Given the description of an element on the screen output the (x, y) to click on. 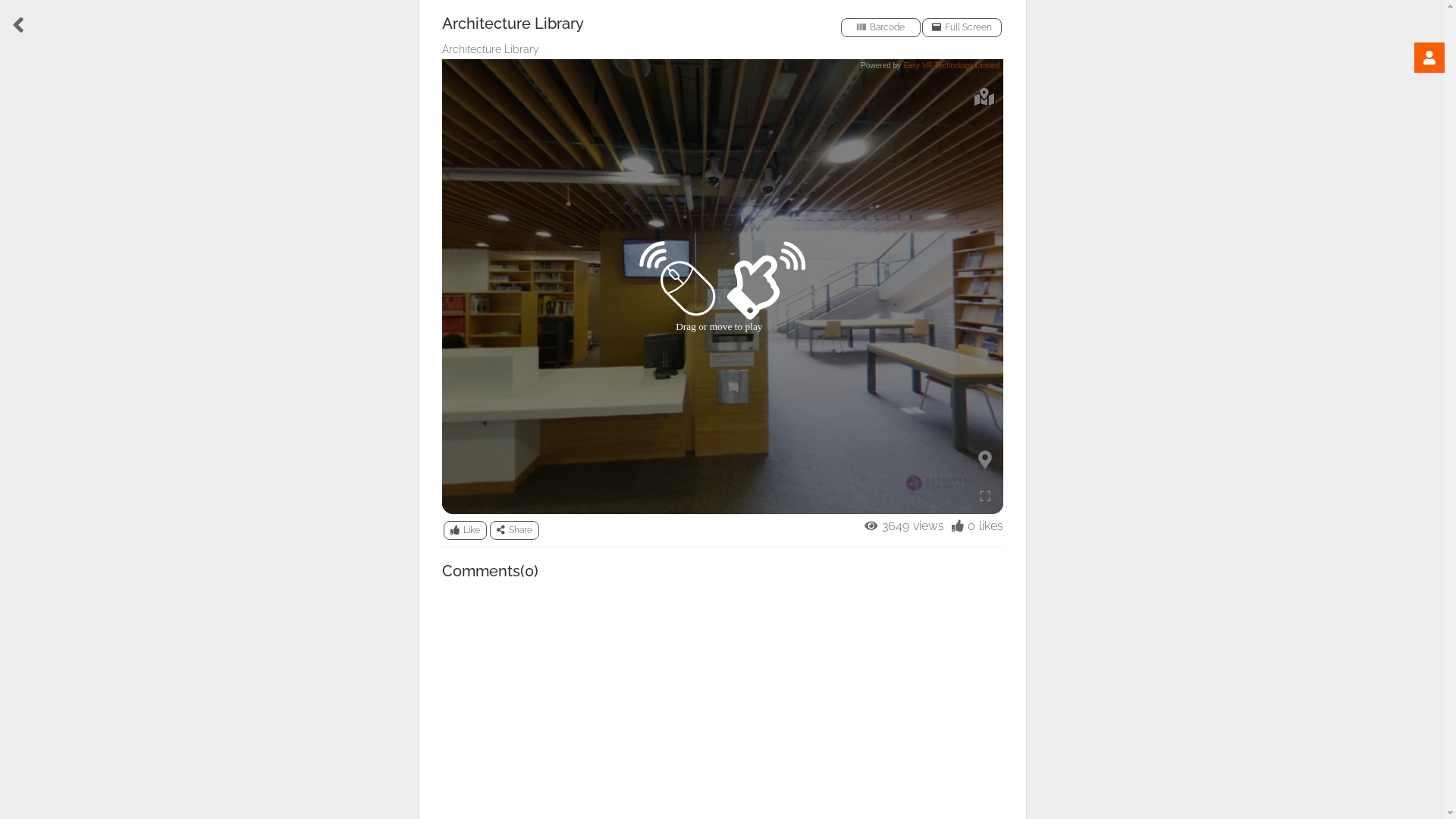
SHOW Element type: text (35, 719)
Share Element type: text (514, 529)
BUSINESS Element type: text (35, 651)
Full Screen Element type: text (961, 27)
FUN Element type: text (35, 584)
TRAVEL Element type: text (35, 449)
SHOPPING Element type: text (35, 178)
HEALTH Element type: text (35, 516)
Barcode Element type: text (879, 27)
PROPERTY Element type: text (35, 314)
SPORT Element type: text (35, 246)
FOOD Element type: text (35, 111)
EDUCATION Element type: text (35, 381)
Like Element type: text (464, 529)
